Given the description of an element on the screen output the (x, y) to click on. 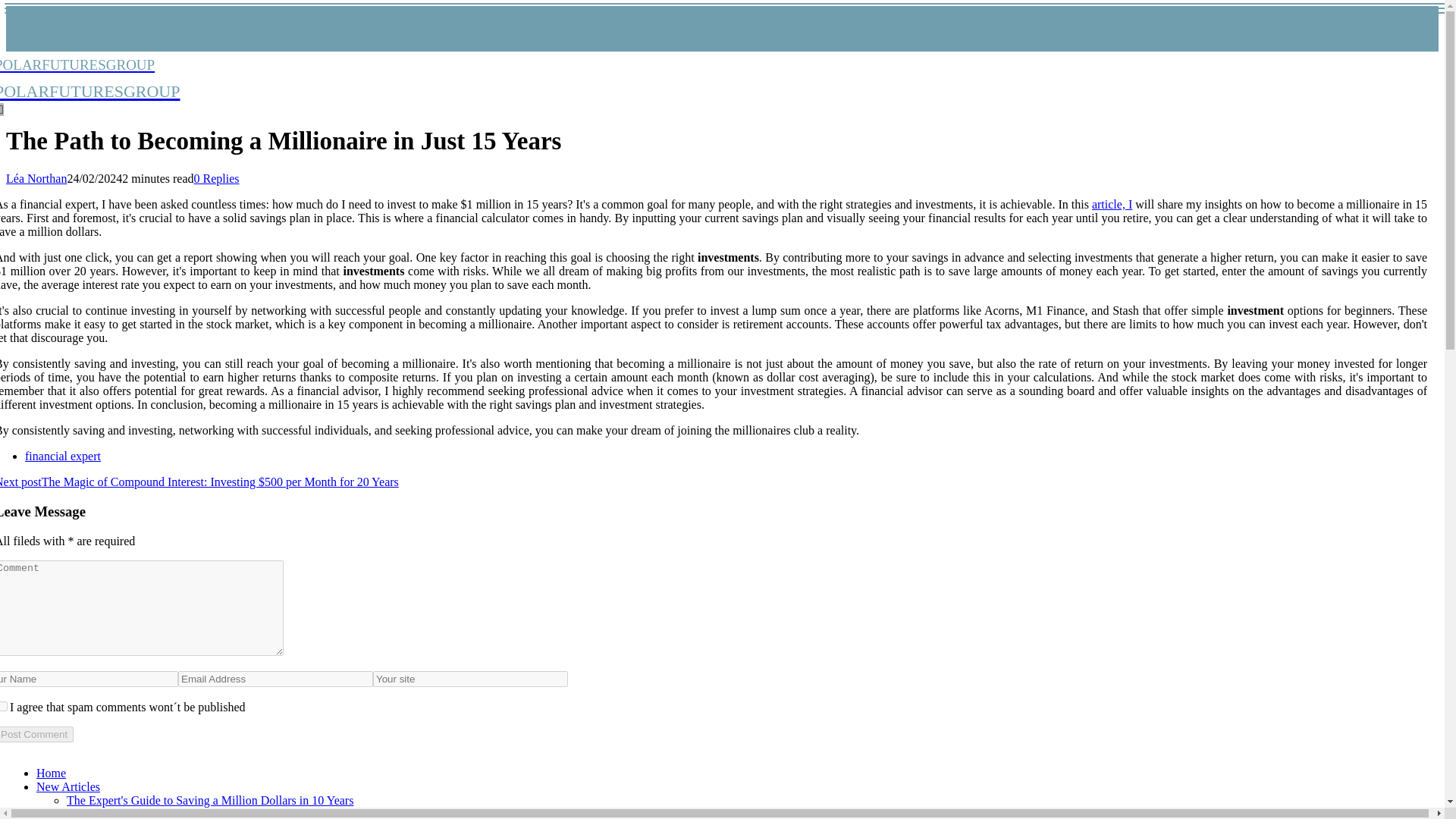
Post Comment (90, 77)
0 Replies (37, 734)
Home (216, 178)
The Expert's Guide to Saving a Million Dollars in 10 Years (50, 772)
financial expert (209, 799)
Post Comment (62, 455)
article, I (37, 734)
New Articles (1112, 204)
